Given the description of an element on the screen output the (x, y) to click on. 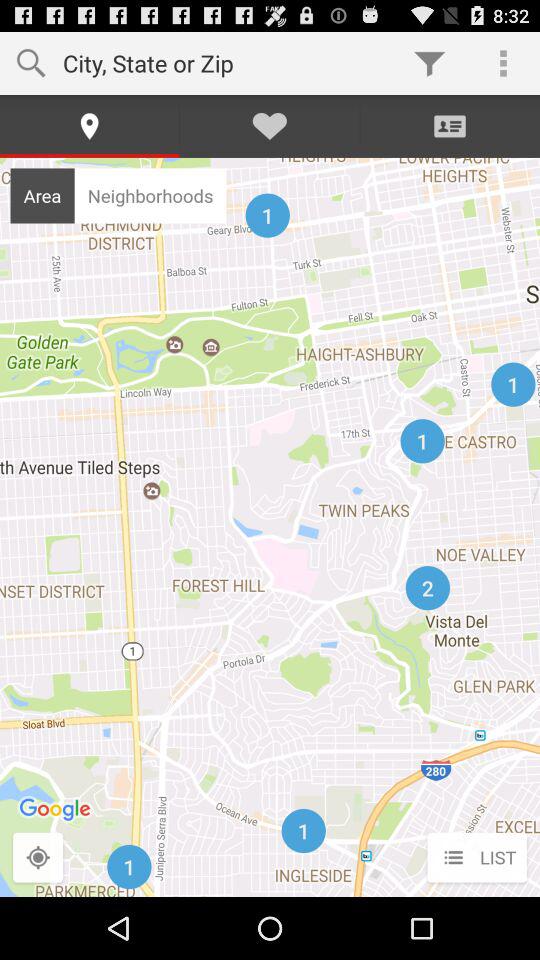
choose the neighborhoods (150, 195)
